Given the description of an element on the screen output the (x, y) to click on. 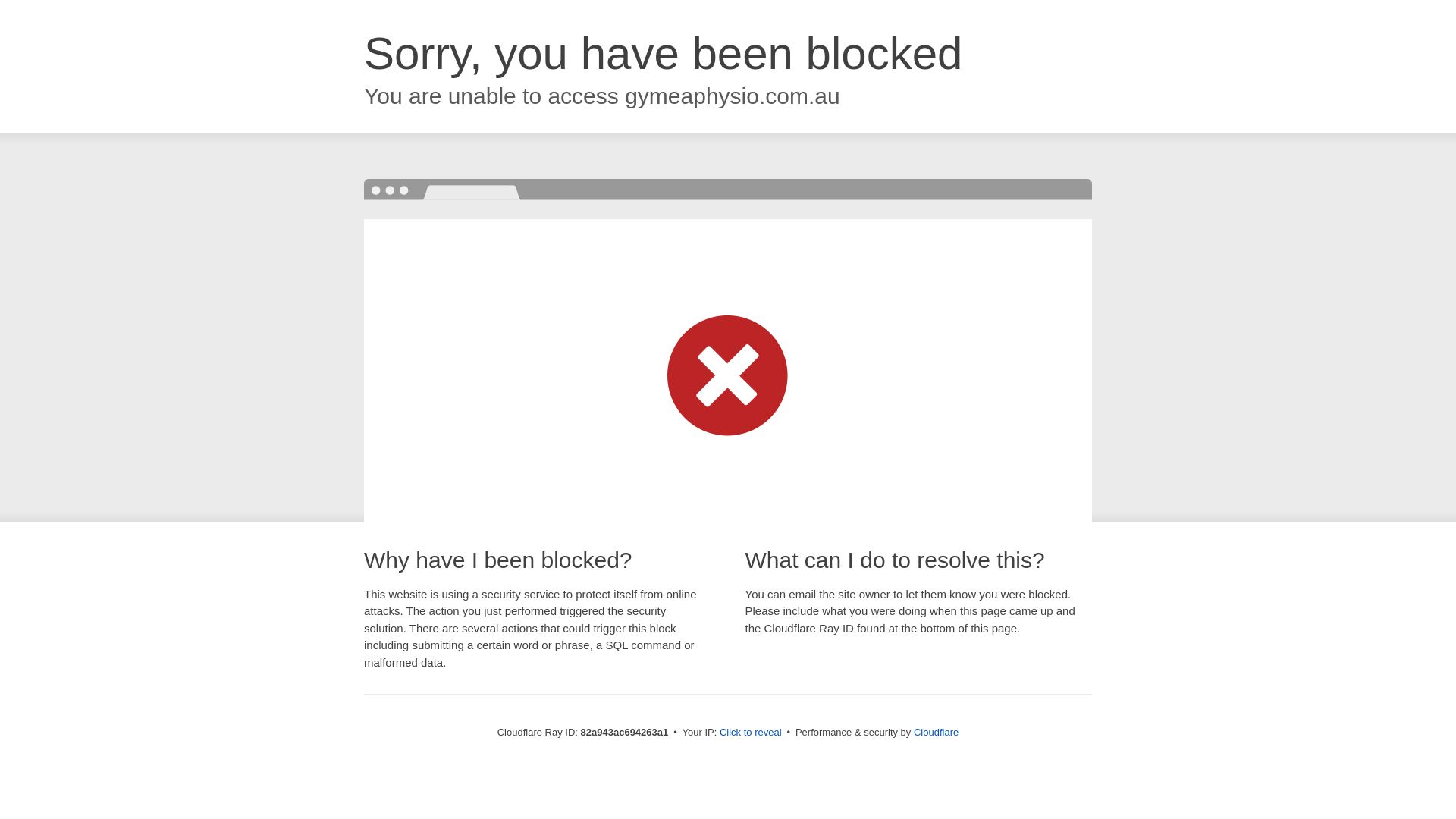
Click to reveal Element type: text (750, 732)
Cloudflare Element type: text (935, 731)
